Given the description of an element on the screen output the (x, y) to click on. 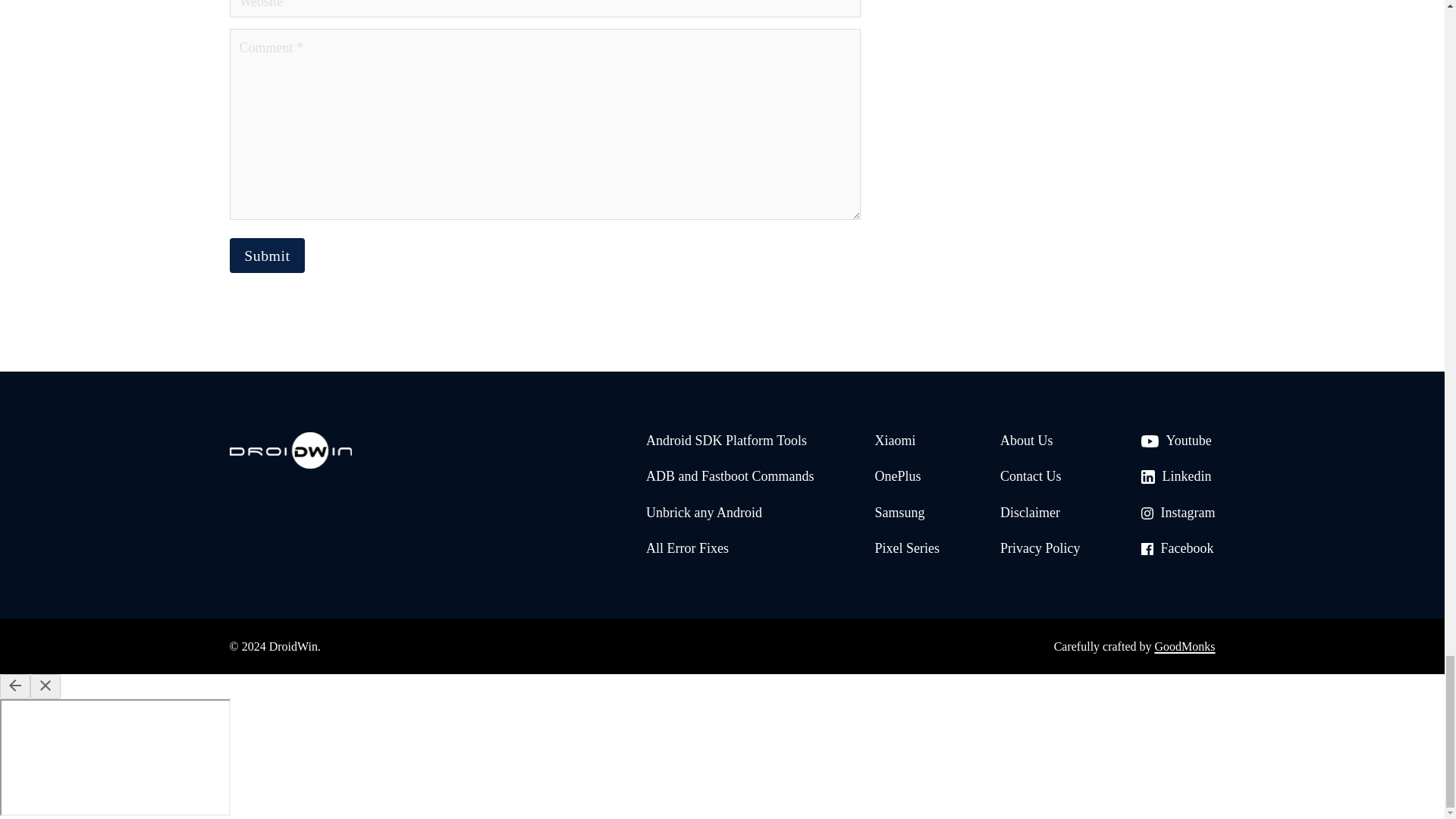
Submit (266, 255)
Submit (266, 255)
Droidwin (290, 453)
